Given the description of an element on the screen output the (x, y) to click on. 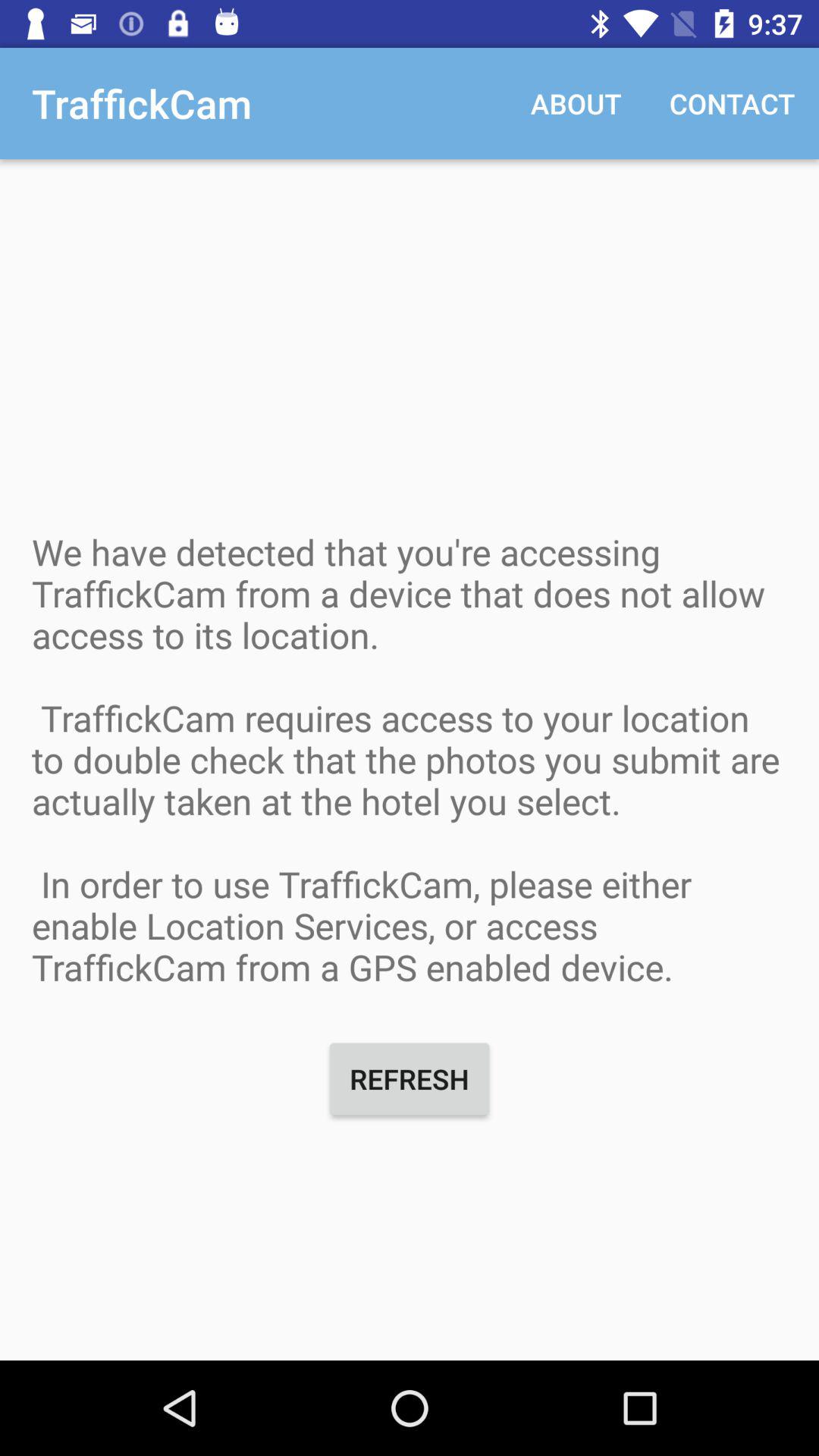
turn off the item next to contact item (575, 103)
